Given the description of an element on the screen output the (x, y) to click on. 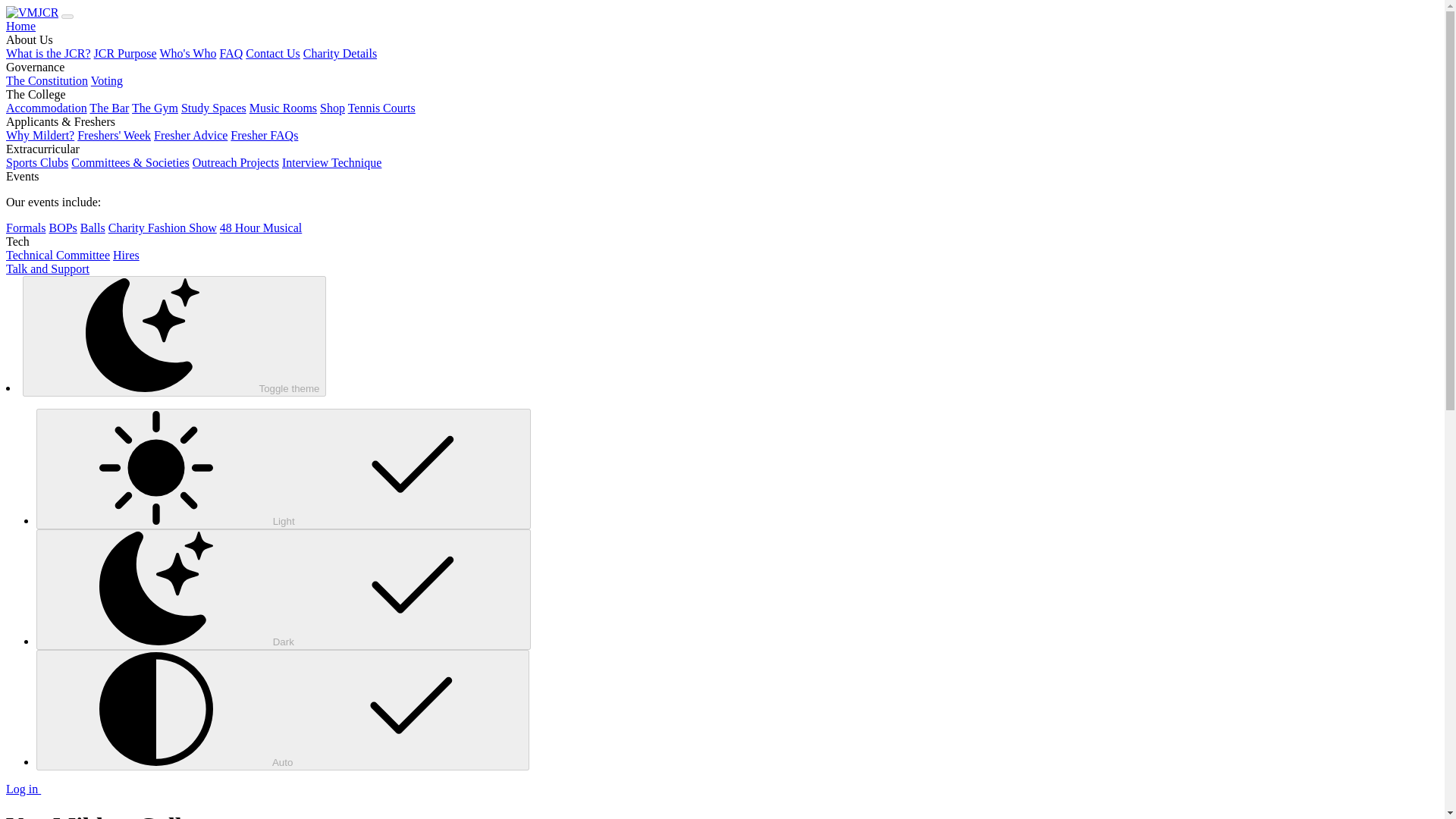
BOPs (62, 227)
FAQ (231, 52)
Charity Fashion Show (161, 227)
Freshers' Week (114, 134)
Voting (106, 80)
Contact Us (272, 52)
Governance (34, 66)
Technical Committee (57, 254)
Tech (17, 241)
Shop (332, 107)
Who's Who (186, 52)
What is the JCR? (47, 52)
Formals (25, 227)
Charity Details (339, 52)
Fresher Advice (190, 134)
